Given the description of an element on the screen output the (x, y) to click on. 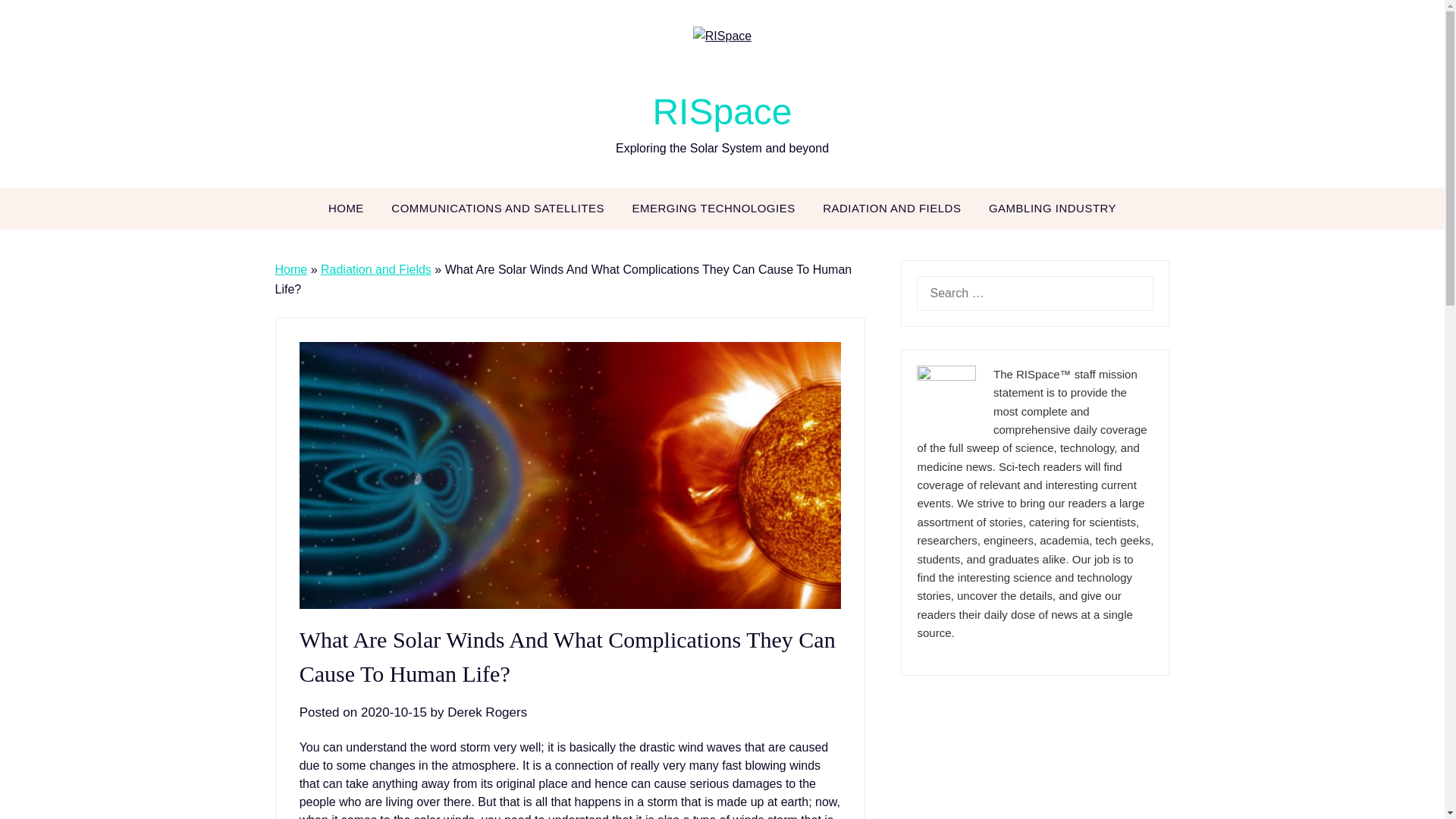
Search (38, 22)
EMERGING TECHNOLOGIES (713, 208)
Home (291, 269)
2020-10-15 (393, 712)
Derek Rogers (486, 712)
HOME (345, 208)
GAMBLING INDUSTRY (1052, 208)
COMMUNICATIONS AND SATELLITES (496, 208)
RISpace (722, 111)
RADIATION AND FIELDS (891, 208)
